Given the description of an element on the screen output the (x, y) to click on. 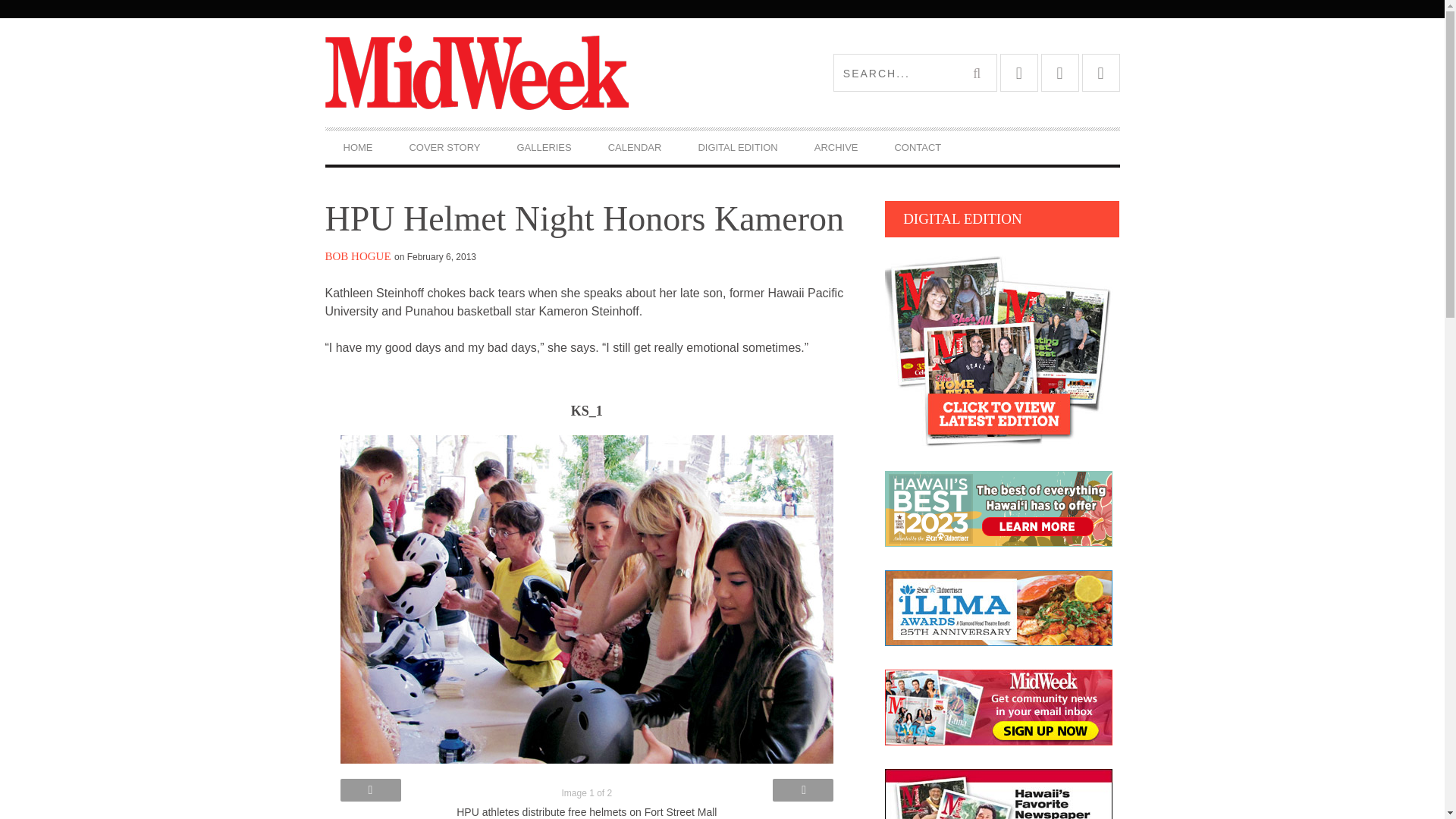
CALENDAR (634, 147)
GALLERIES (544, 147)
DIGITAL EDITION (736, 147)
COVER STORY (443, 147)
HOME (357, 147)
CONTACT (917, 147)
BOB HOGUE (357, 256)
Posts by Bob Hogue (357, 256)
MidWeek (523, 72)
ARCHIVE (836, 147)
